Given the description of an element on the screen output the (x, y) to click on. 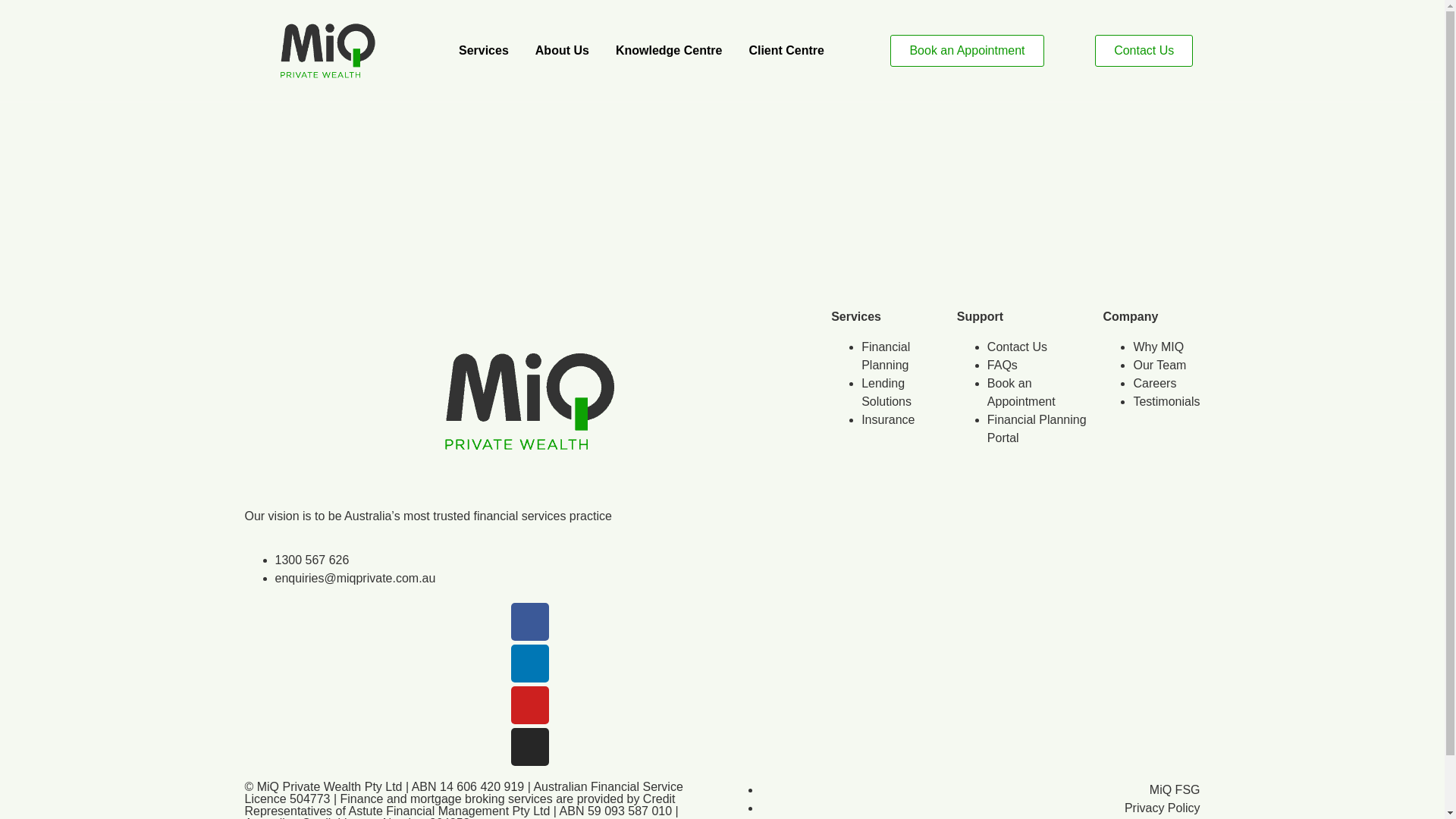
Book an Appointment Element type: text (966, 50)
MiQ FSG Element type: text (1174, 789)
FAQs Element type: text (1002, 364)
Testimonials Element type: text (1165, 401)
Contact Us Element type: text (1017, 346)
Knowledge Centre Element type: text (668, 50)
Careers Element type: text (1154, 382)
Insurance Element type: text (887, 419)
Client Centre Element type: text (786, 50)
Our Team Element type: text (1159, 364)
Financial Planning Portal Element type: text (1036, 428)
Contact Us Element type: text (1143, 50)
Privacy Policy Element type: text (1162, 807)
Lending Solutions Element type: text (886, 391)
Why MIQ Element type: text (1157, 346)
1300 567 626 Element type: text (311, 559)
Financial Planning Element type: text (885, 355)
About Us Element type: text (562, 50)
Services Element type: text (483, 50)
Book an Appointment Element type: text (1021, 391)
enquiries@miqprivate.com.au Element type: text (354, 577)
